Given the description of an element on the screen output the (x, y) to click on. 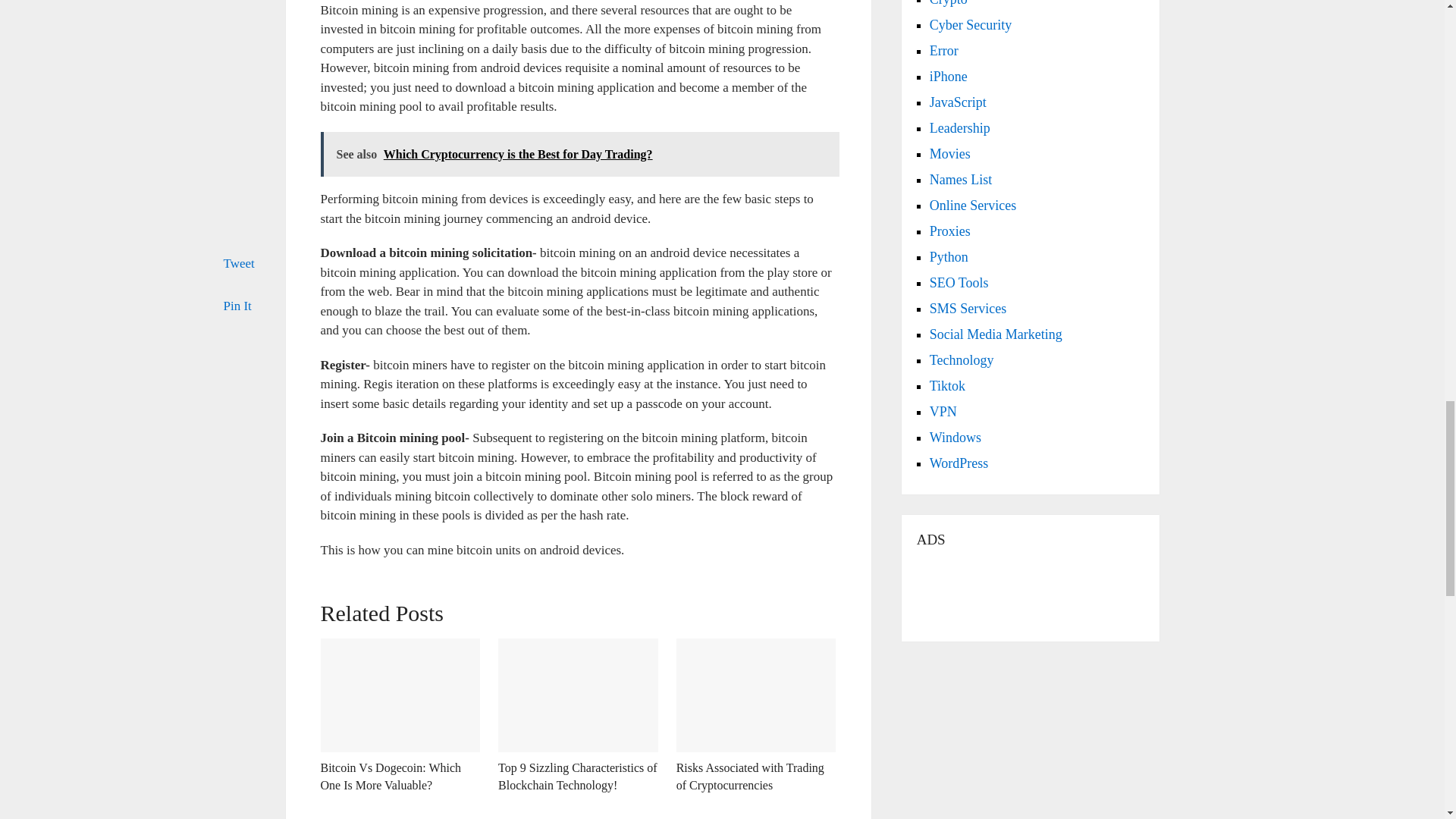
Bitcoin Vs Dogecoin: Which One Is More Valuable? (390, 776)
Top 9 Sizzling Characteristics of Blockchain Technology! (577, 776)
Top 9 Sizzling Characteristics of Blockchain Technology! (577, 776)
Bitcoin Vs Dogecoin: Which One Is More Valuable? (390, 776)
Risks Associated with Trading of Cryptocurrencies (750, 776)
Top 9 Sizzling Characteristics of Blockchain Technology! (577, 695)
Bitcoin Vs Dogecoin: Which One Is More Valuable? (400, 695)
See also  Which Cryptocurrency is the Best for Day Trading? (579, 154)
Risks Associated with Trading of Cryptocurrencies (756, 695)
